Given the description of an element on the screen output the (x, y) to click on. 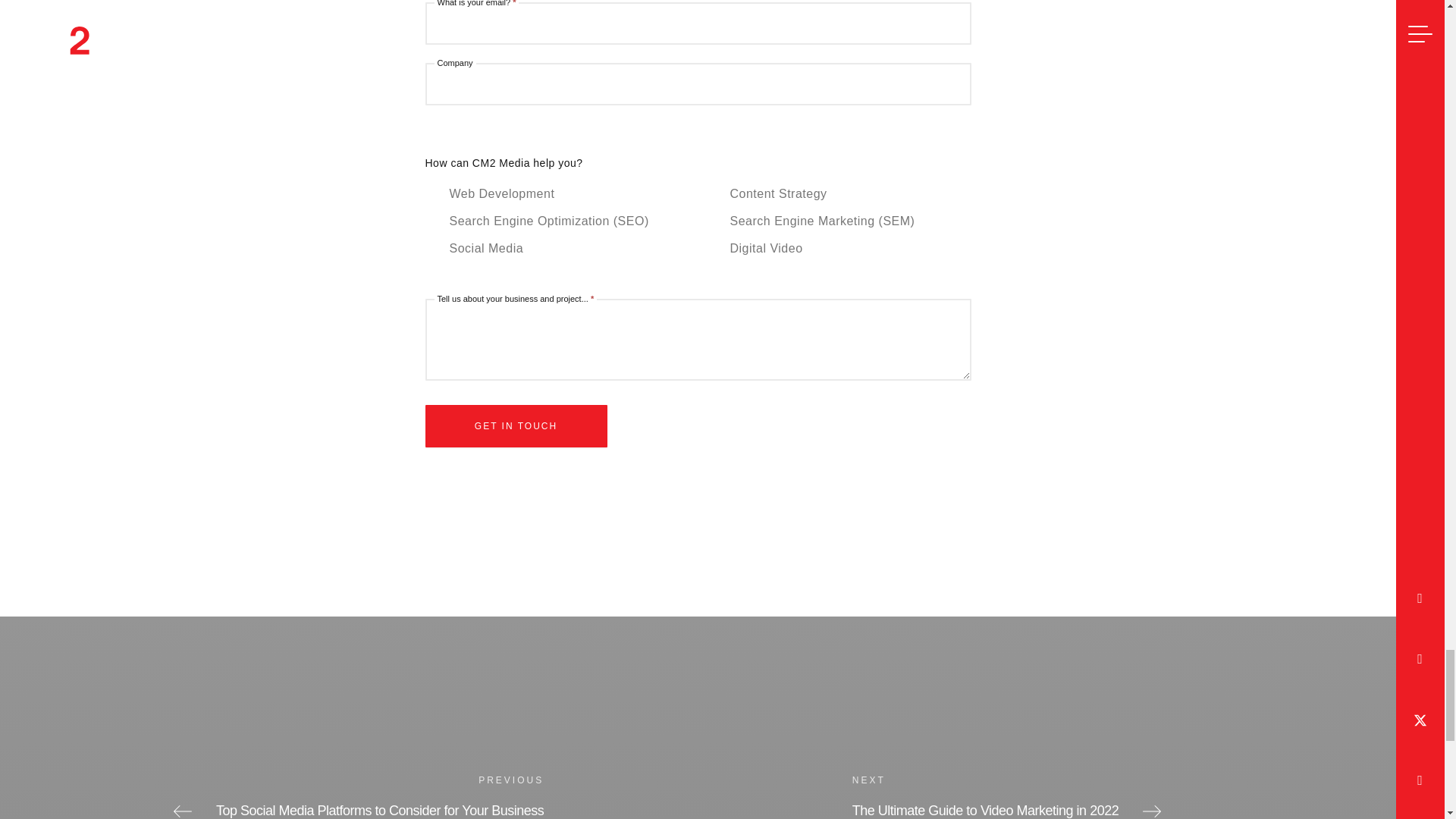
GET IN TOUCH (516, 425)
